Given the description of an element on the screen output the (x, y) to click on. 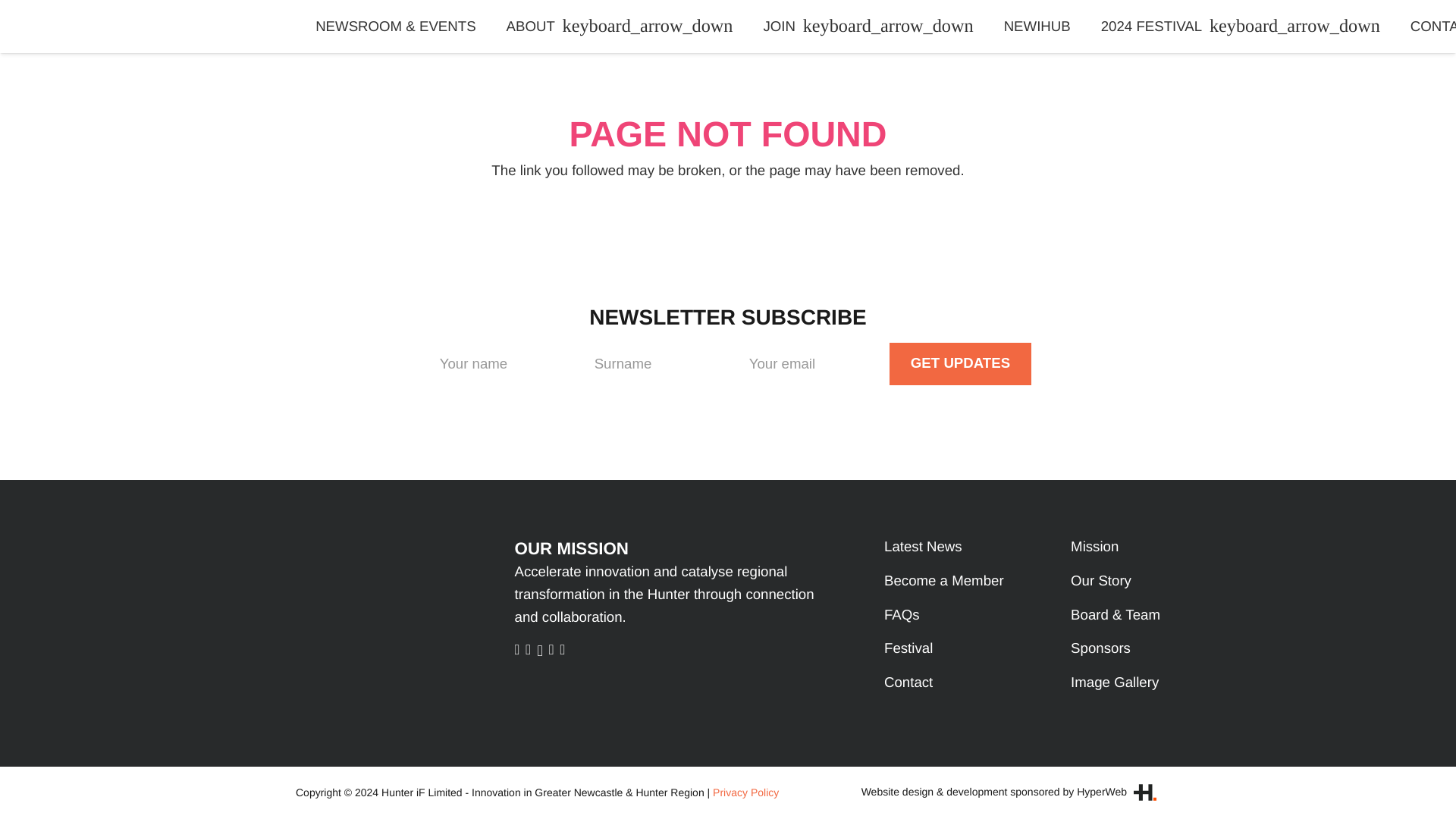
ABOUT (613, 26)
Our Story (1095, 739)
Become a Member (937, 739)
Get updates (722, 551)
JOIN (862, 26)
FAQs (895, 773)
Latest News (916, 705)
Get updates (722, 551)
2024 FESTIVAL (1234, 26)
NEWIHUB (1031, 26)
